Given the description of an element on the screen output the (x, y) to click on. 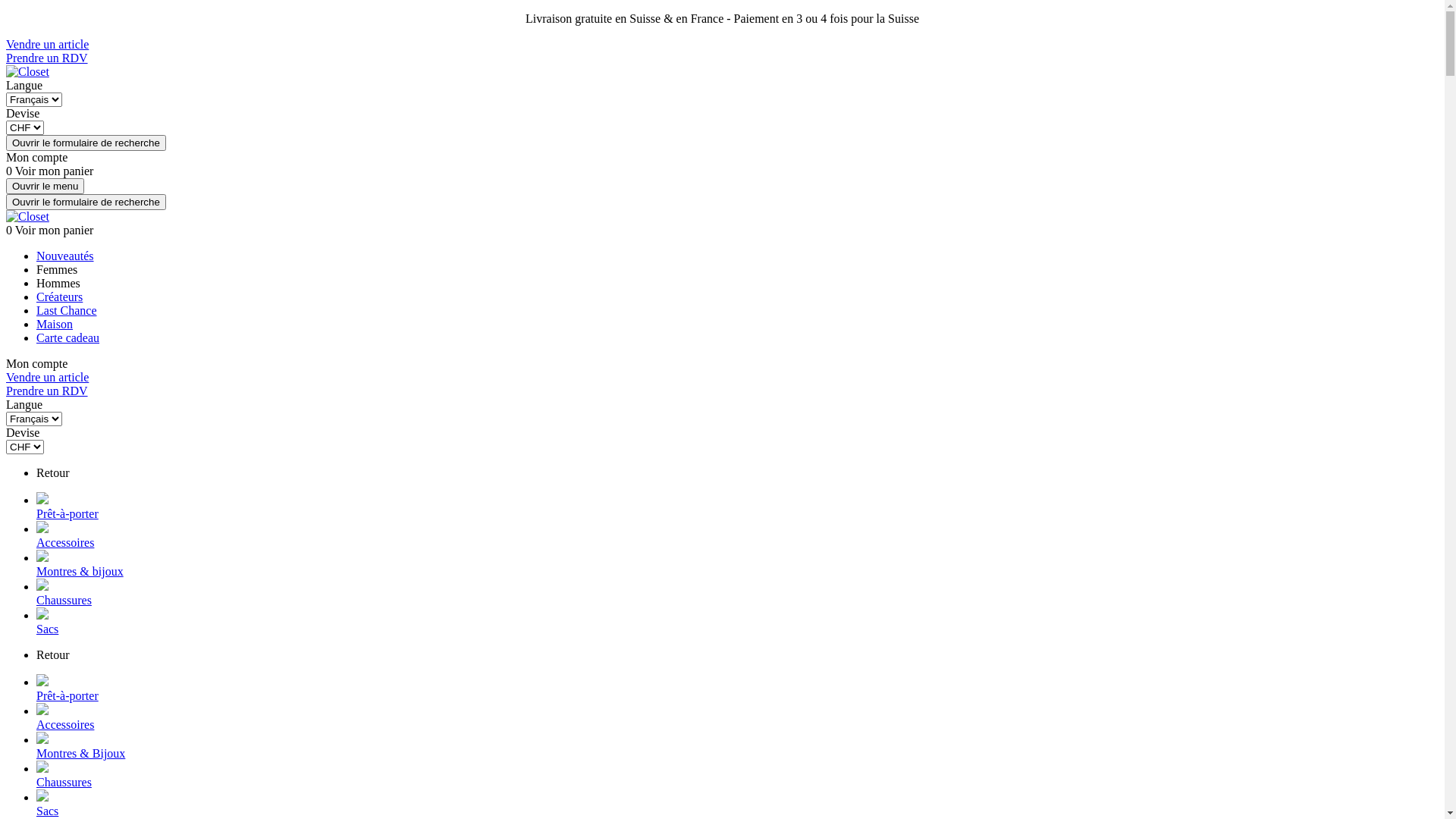
Sacs Element type: text (737, 803)
Maison Element type: text (54, 323)
Carte cadeau Element type: text (67, 337)
Mon compte Element type: text (36, 363)
Sacs Element type: text (737, 621)
Ouvrir le formulaire de recherche Element type: text (86, 202)
Montres & bijoux Element type: text (737, 563)
Vendre un article Element type: text (47, 43)
Chaussures Element type: text (737, 592)
Chaussures Element type: text (737, 774)
Vendre un article Element type: text (47, 376)
Mon compte Element type: text (36, 156)
0 Voir mon panier Element type: text (49, 170)
Prendre un RDV Element type: text (46, 390)
Ouvrir le menu Element type: text (45, 186)
Accessoires Element type: text (737, 716)
Montres & Bijoux Element type: text (737, 745)
0 Voir mon panier Element type: text (49, 229)
Prendre un RDV Element type: text (46, 57)
Accessoires Element type: text (737, 534)
Last Chance Element type: text (66, 310)
Ouvrir le formulaire de recherche Element type: text (86, 142)
